Given the description of an element on the screen output the (x, y) to click on. 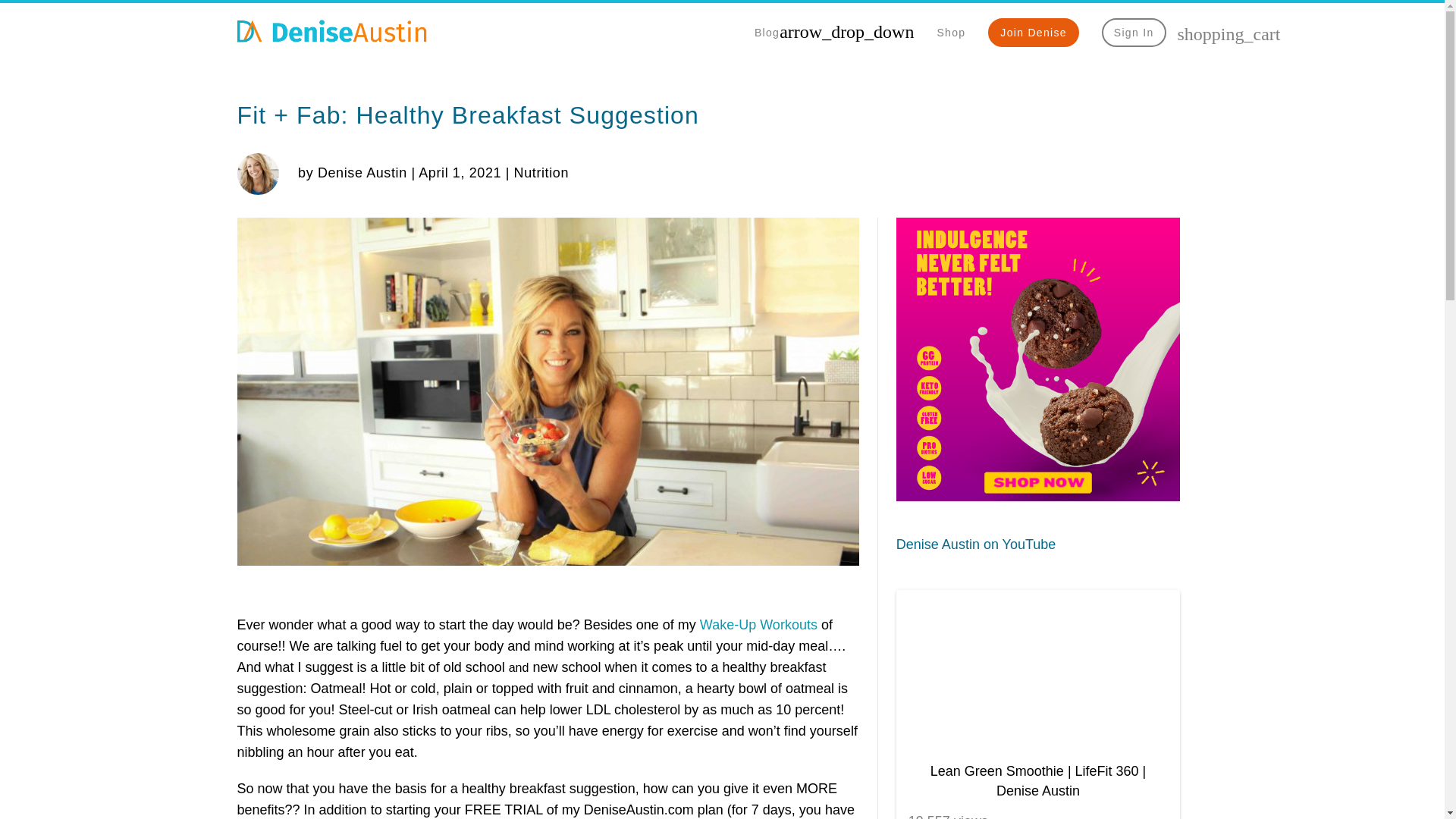
Shop (950, 32)
Wake-Up Workouts (758, 624)
Sign In (1134, 32)
Join Denise (1033, 32)
Shop (1037, 496)
